Given the description of an element on the screen output the (x, y) to click on. 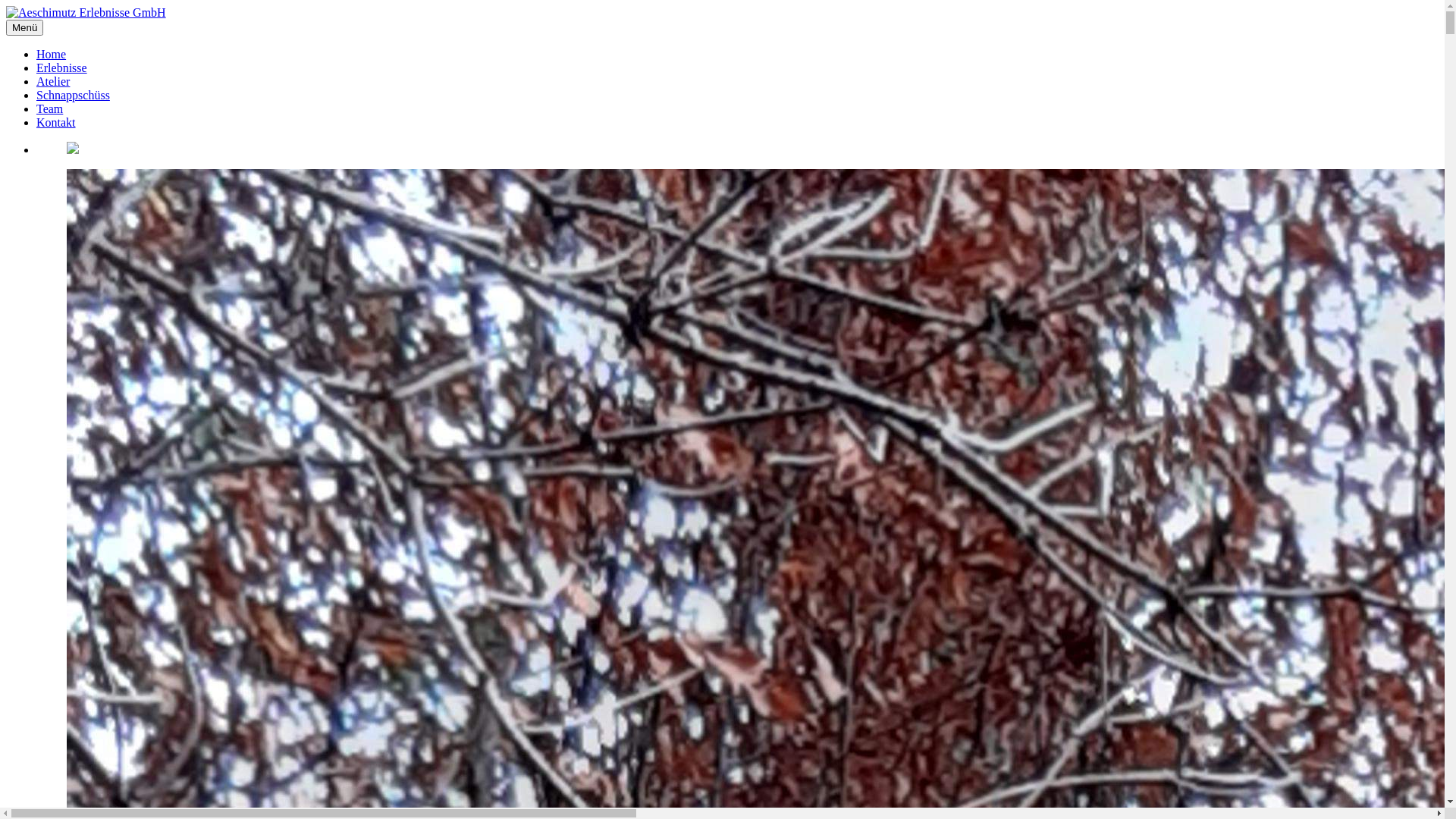
Team Element type: text (49, 108)
Aeschimutz Erlebnisse GmbH Element type: hover (86, 12)
Atelier Element type: text (52, 81)
Home Element type: text (50, 53)
Kontakt Element type: text (55, 122)
Erlebnisse Element type: text (61, 67)
